Given the description of an element on the screen output the (x, y) to click on. 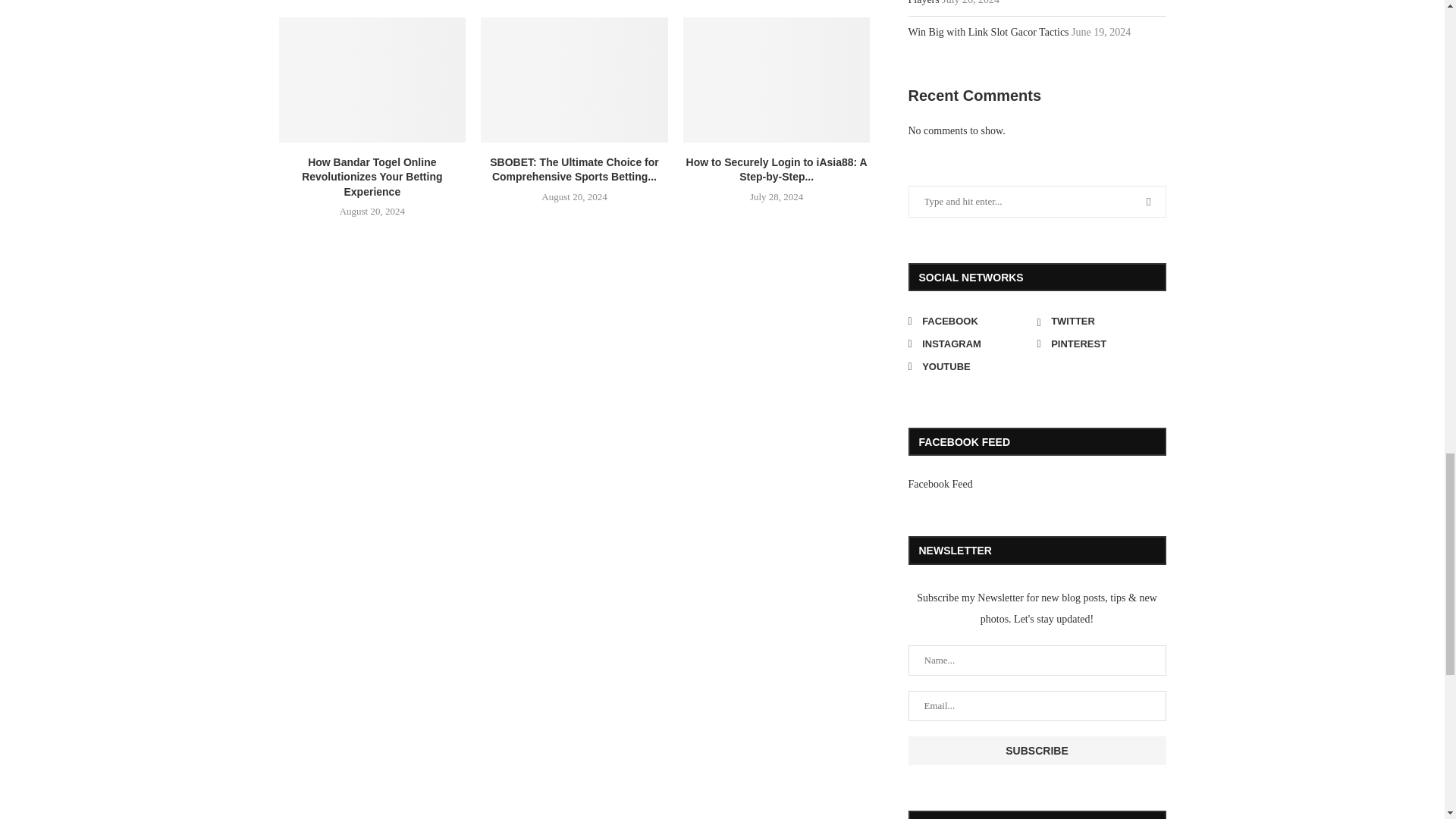
Subscribe (1037, 750)
How to Securely Login to iAsia88: A Step-by-Step Guide (776, 79)
